Given the description of an element on the screen output the (x, y) to click on. 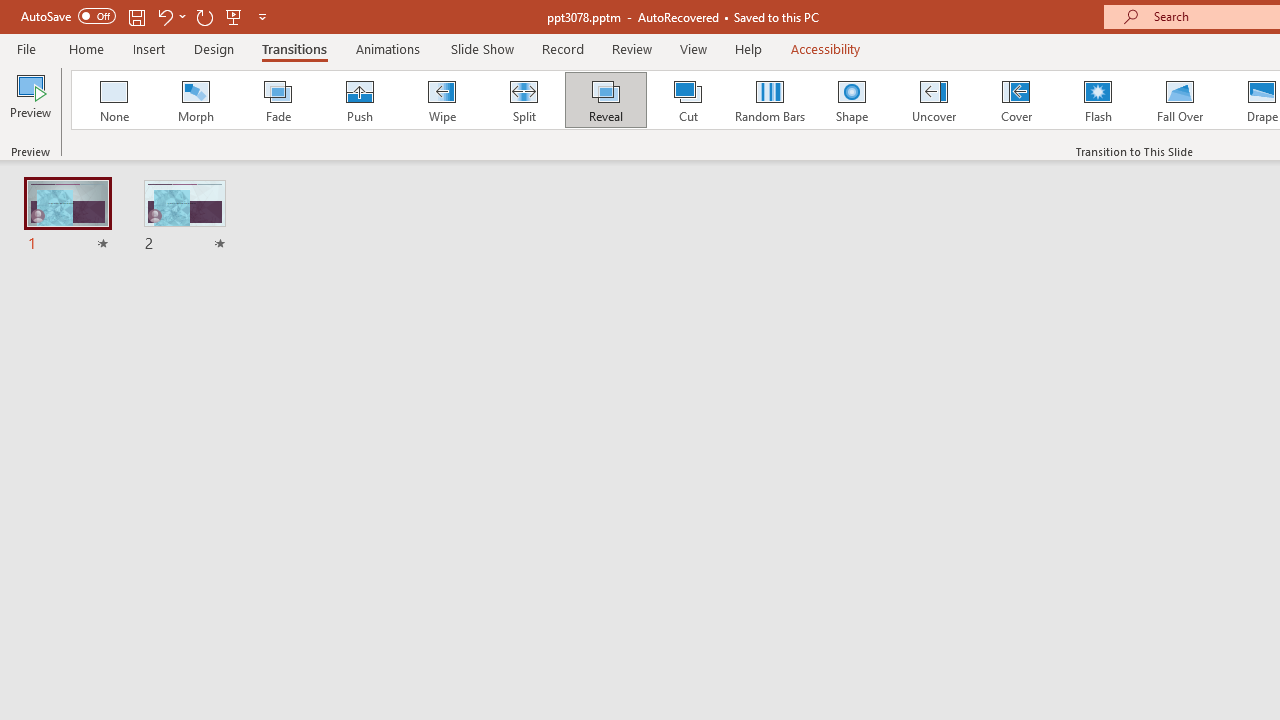
Uncover (934, 100)
Flash (1098, 100)
Morph (195, 100)
Push (359, 100)
